Given the description of an element on the screen output the (x, y) to click on. 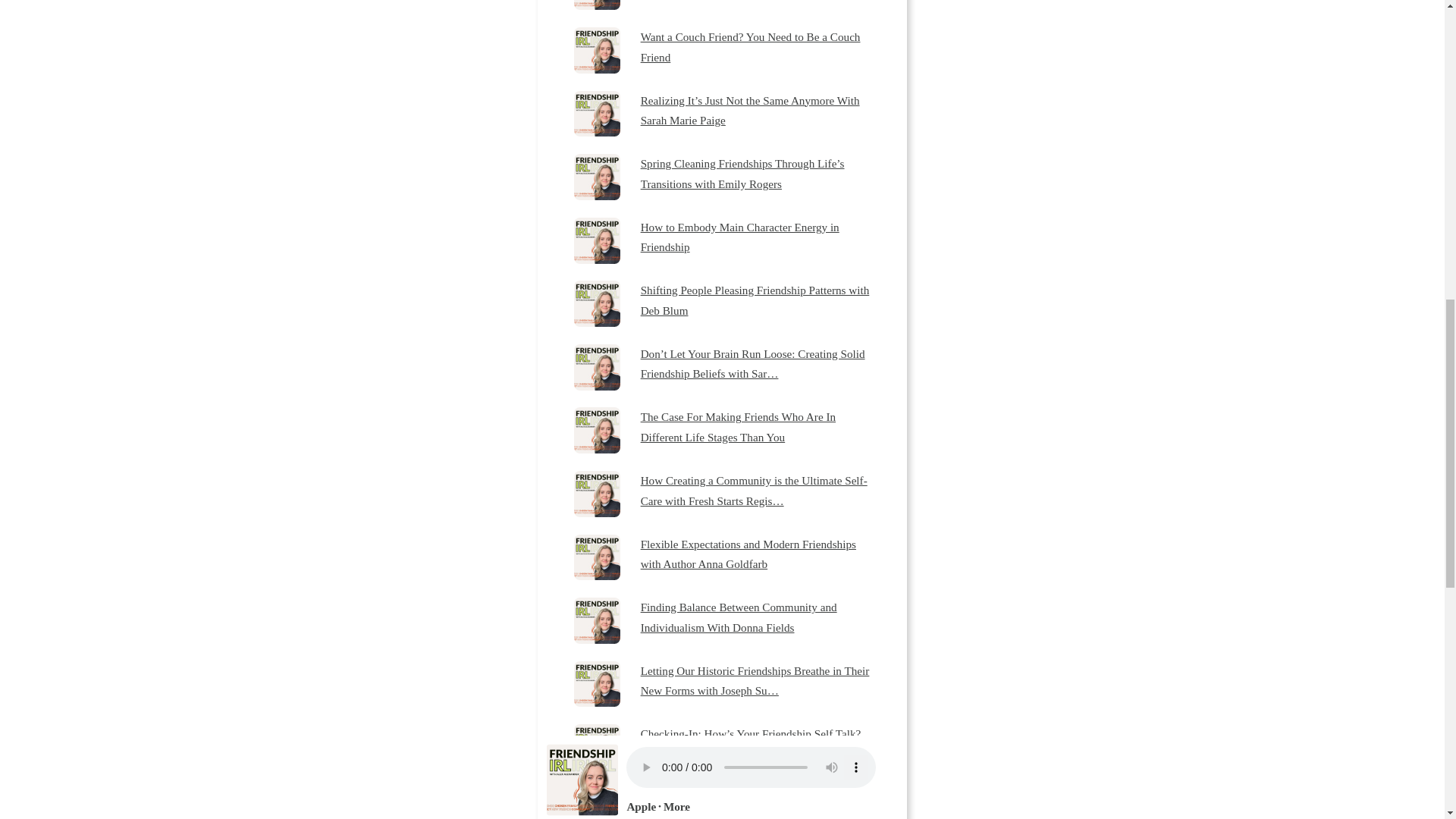
Shifting People Pleasing Friendship Patterns with Deb Blum (758, 300)
Want a Couch Friend? You Need to Be a Couch Friend (758, 47)
How to Embody Main Character Energy in Friendship (758, 237)
Want a Couch Friend? You Need to Be a Couch Friend (758, 47)
